Given the description of an element on the screen output the (x, y) to click on. 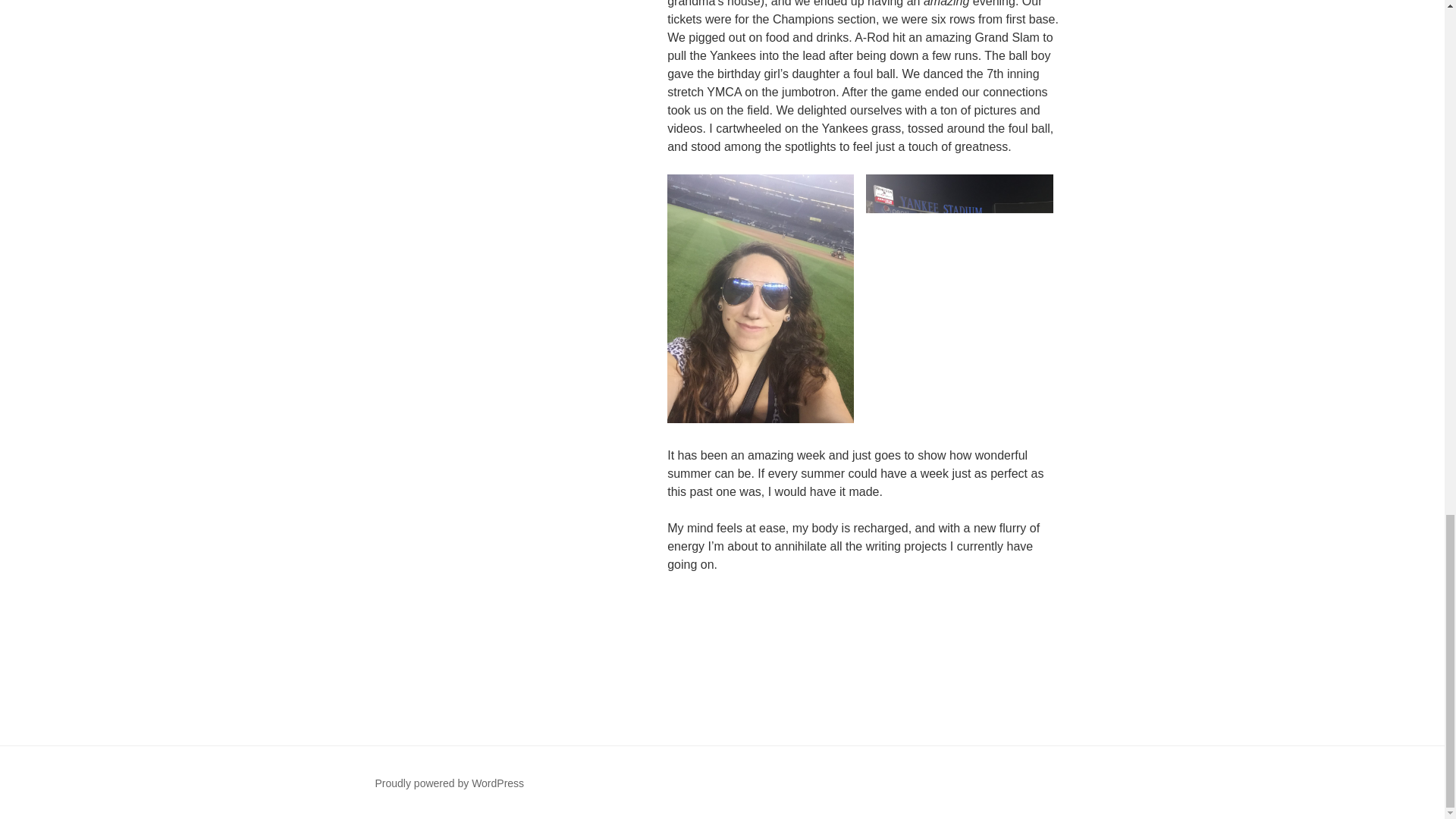
Proudly powered by WordPress (449, 783)
